Given the description of an element on the screen output the (x, y) to click on. 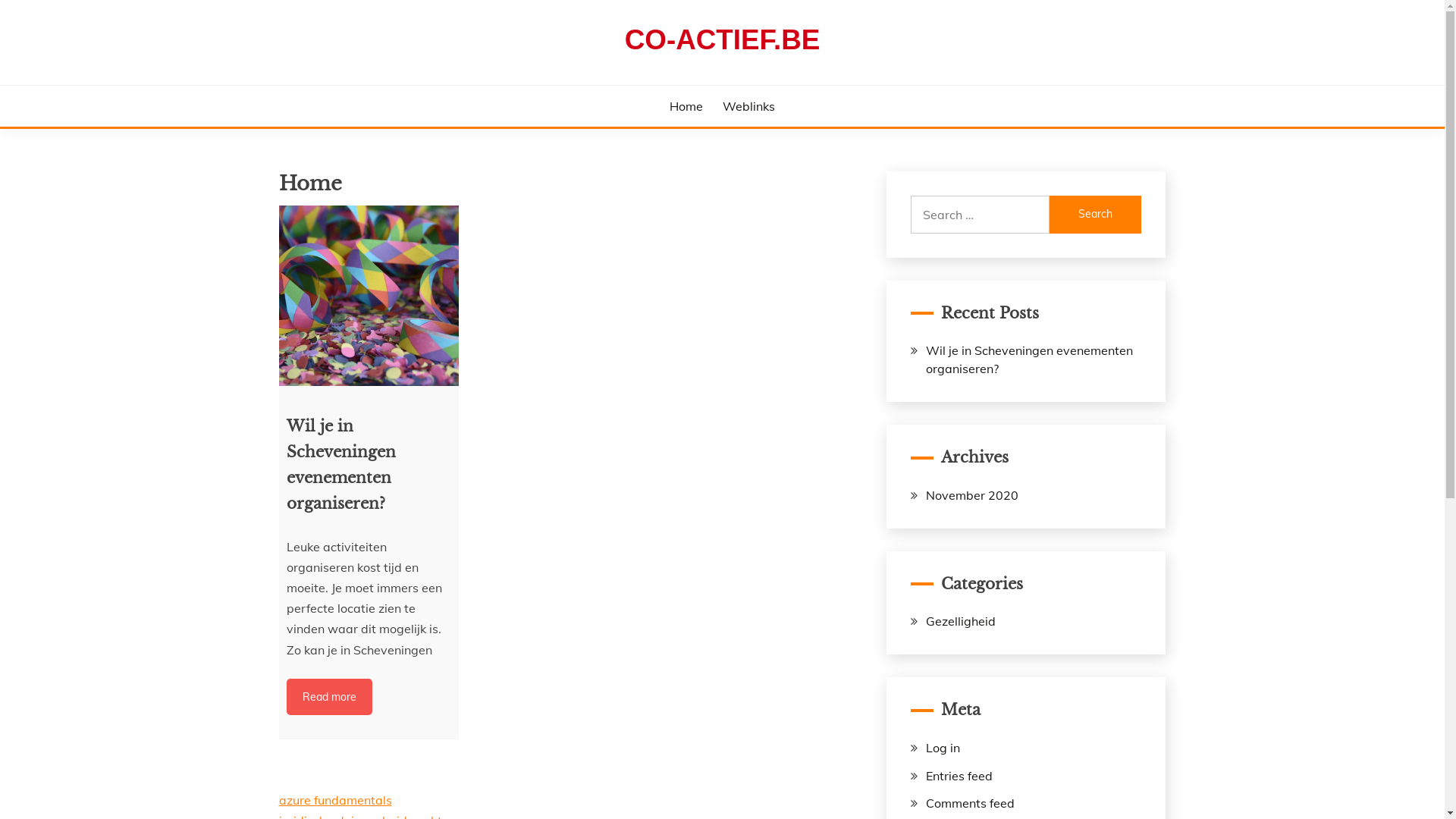
Log in Element type: text (942, 747)
Home Element type: text (685, 106)
Wil je in Scheveningen evenementen organiseren? Element type: text (1028, 359)
CO-ACTIEF.BE Element type: text (722, 39)
azure fundamentals Element type: text (335, 799)
Read more Element type: text (329, 696)
Gezelligheid Element type: text (960, 620)
Search Element type: text (1095, 214)
Entries feed Element type: text (958, 775)
Comments feed Element type: text (969, 802)
Weblinks Element type: text (748, 106)
November 2020 Element type: text (971, 494)
Wil je in Scheveningen evenementen organiseren? Element type: hover (368, 295)
